Given the description of an element on the screen output the (x, y) to click on. 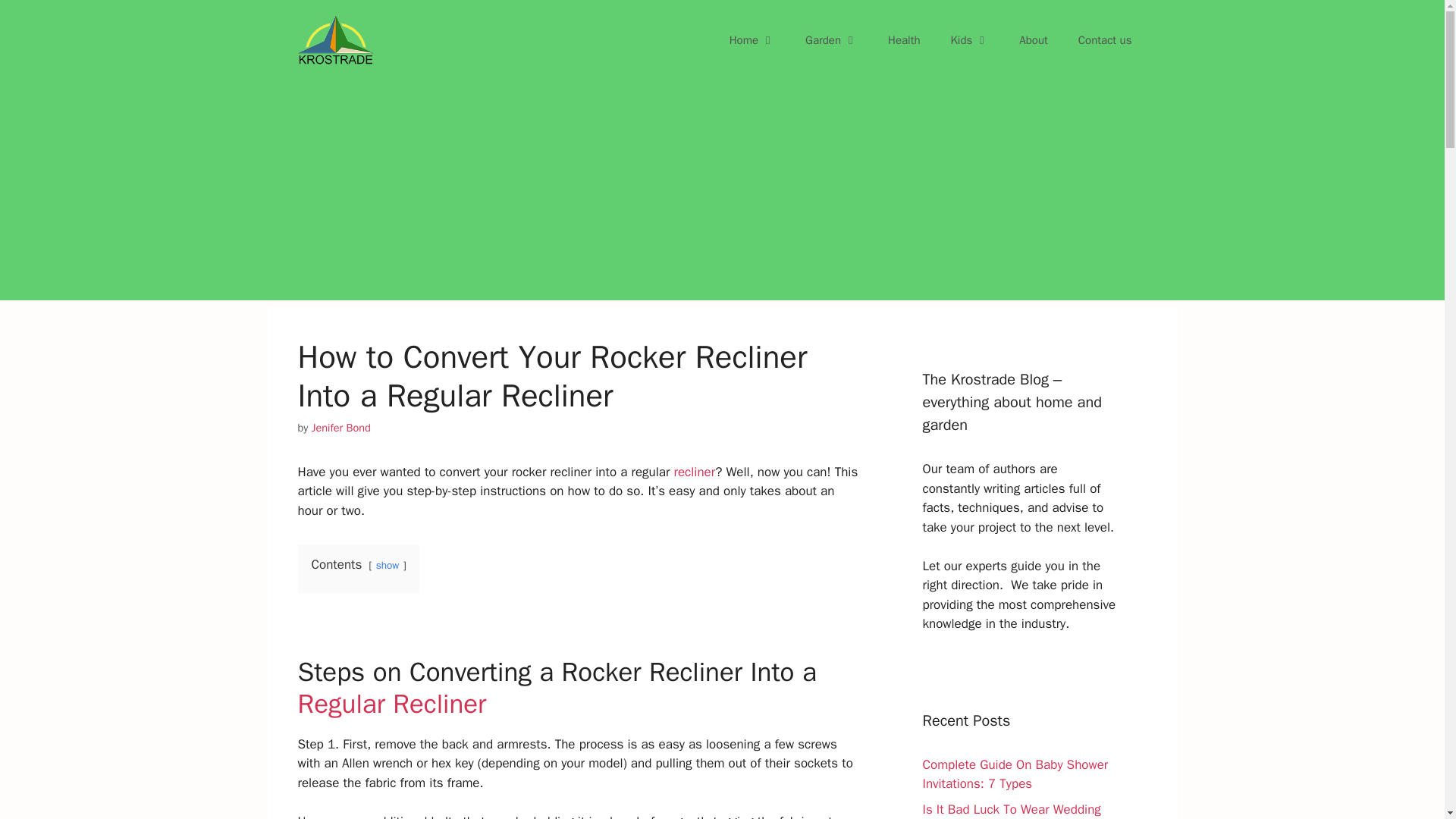
recliner (693, 471)
Garden (831, 40)
Home (752, 40)
Kids (970, 40)
Contact us (1104, 40)
Jenifer Bond (341, 427)
About (1033, 40)
View all posts by Jenifer Bond (341, 427)
show (386, 564)
Health (904, 40)
